Given the description of an element on the screen output the (x, y) to click on. 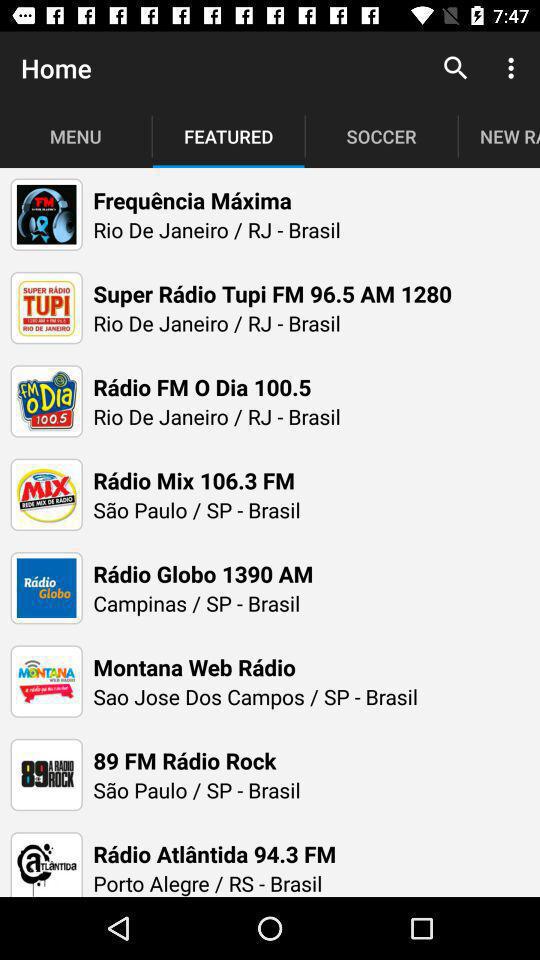
tap the item above the new radios (455, 67)
